Given the description of an element on the screen output the (x, y) to click on. 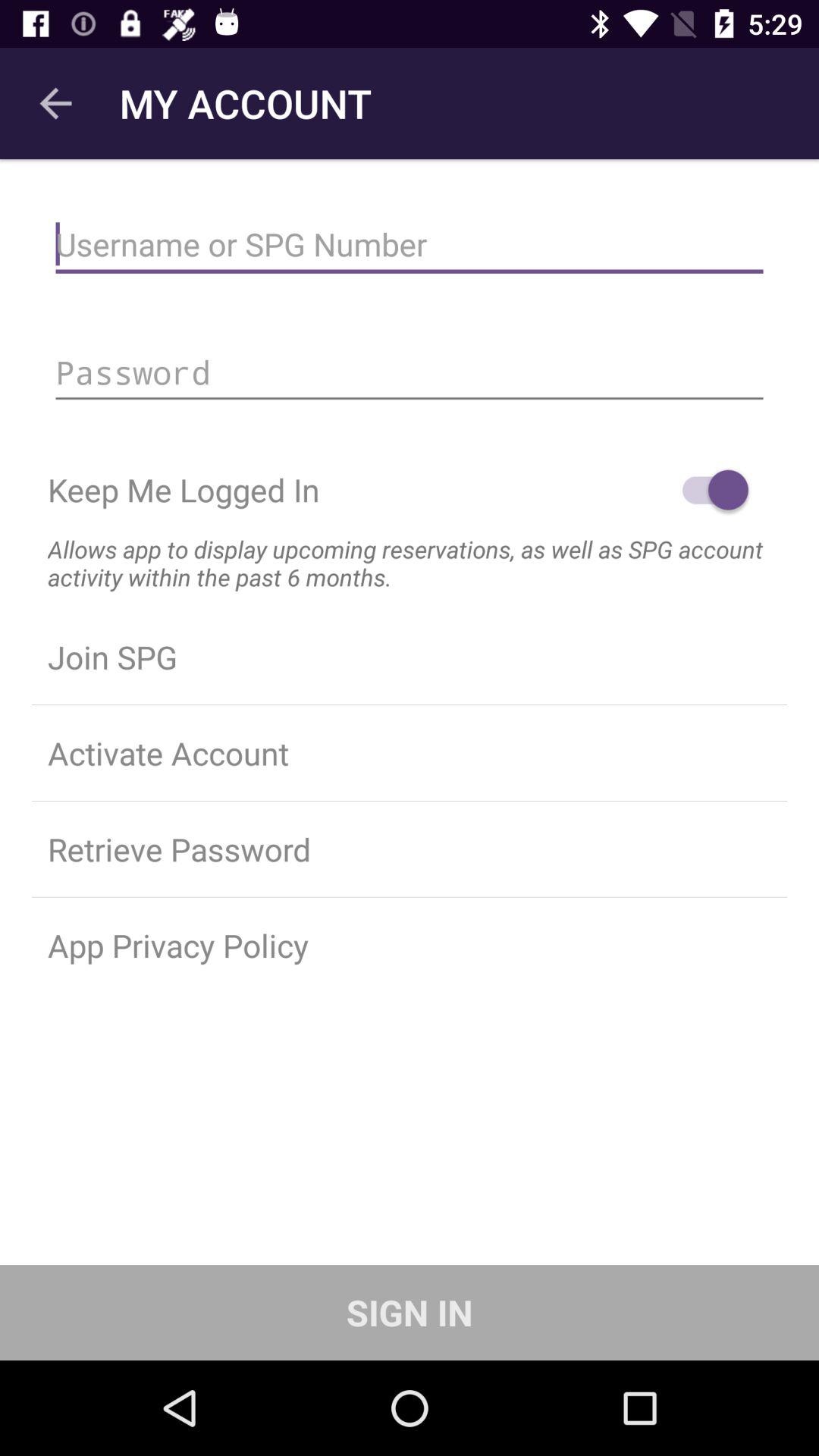
type password (409, 372)
